Given the description of an element on the screen output the (x, y) to click on. 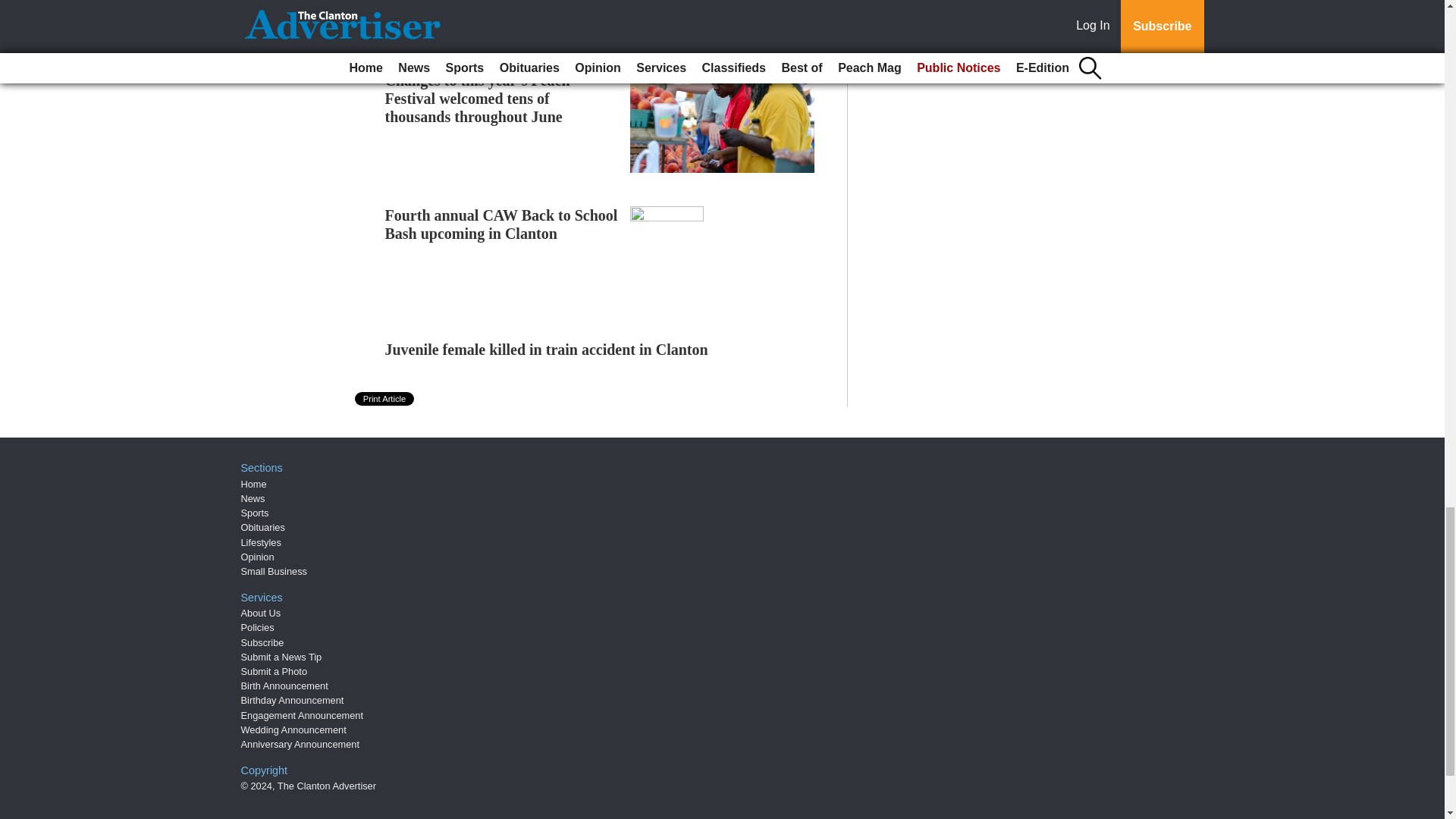
News (252, 498)
Juvenile female killed in train accident in Clanton (546, 349)
Fourth annual CAW Back to School Bash upcoming in Clanton (501, 224)
Fourth annual CAW Back to School Bash upcoming in Clanton (501, 224)
Home (253, 483)
Print Article (384, 398)
Juvenile female killed in train accident in Clanton (546, 349)
